Given the description of an element on the screen output the (x, y) to click on. 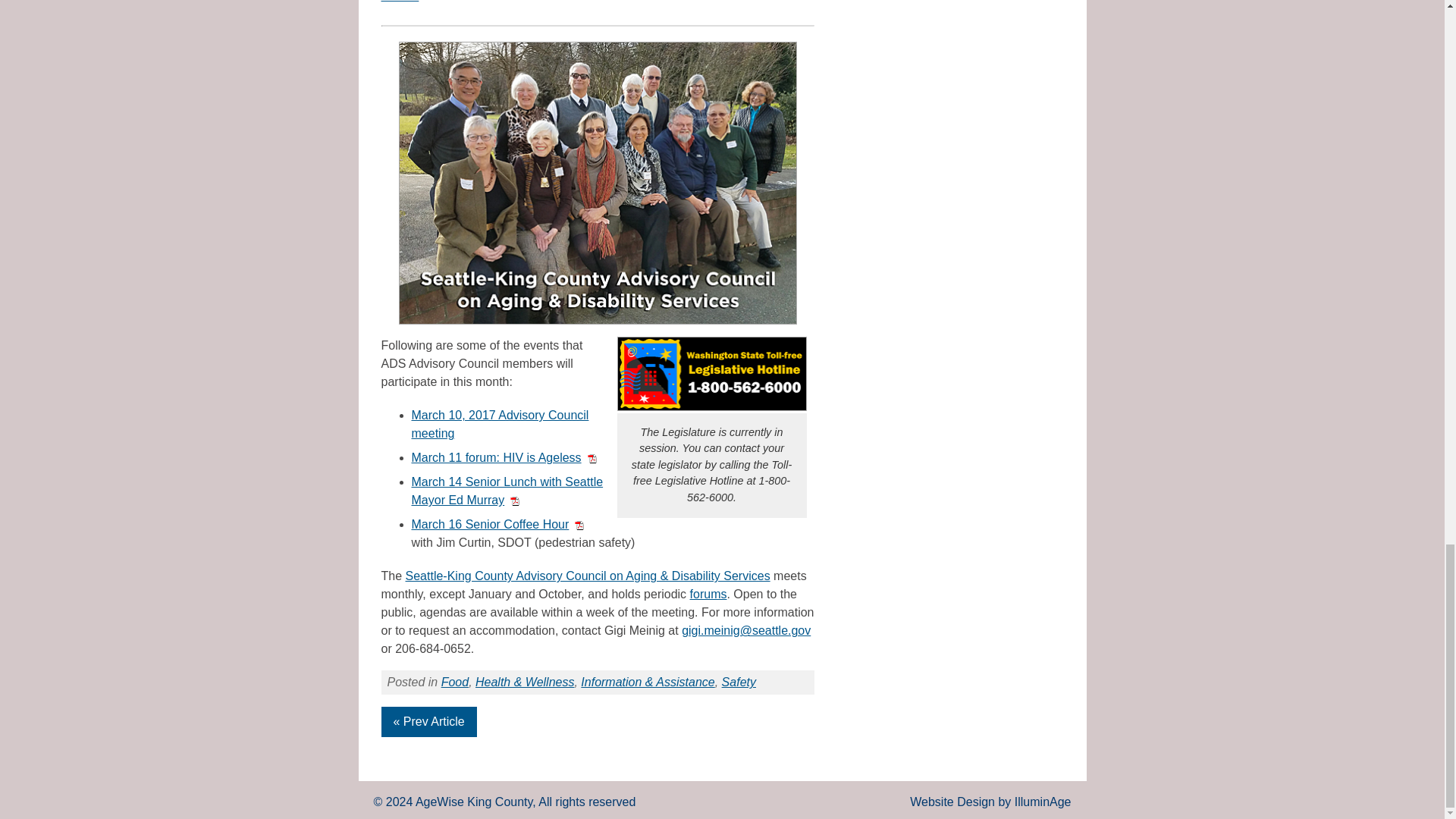
Food (454, 681)
March 11 forum: HIV is Ageless (502, 457)
forums (708, 594)
March 10, 2017 Advisory Council meeting (499, 423)
Safety (738, 681)
March 14 Senior Lunch with Seattle Mayor Ed Murray (506, 490)
March 16 Senior Coffee Hour (496, 523)
